Given the description of an element on the screen output the (x, y) to click on. 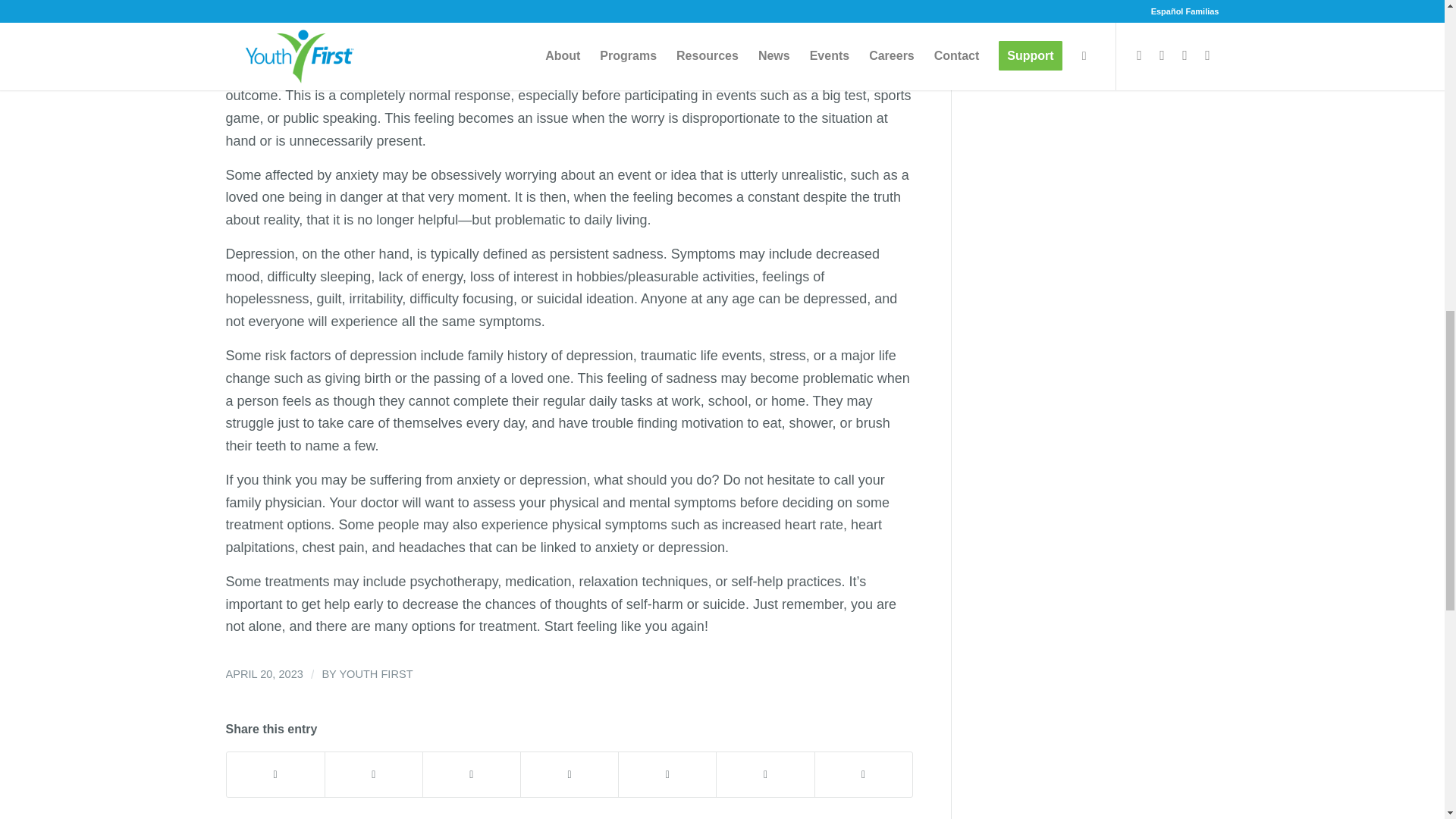
Posts by Youth First (375, 674)
